Given the description of an element on the screen output the (x, y) to click on. 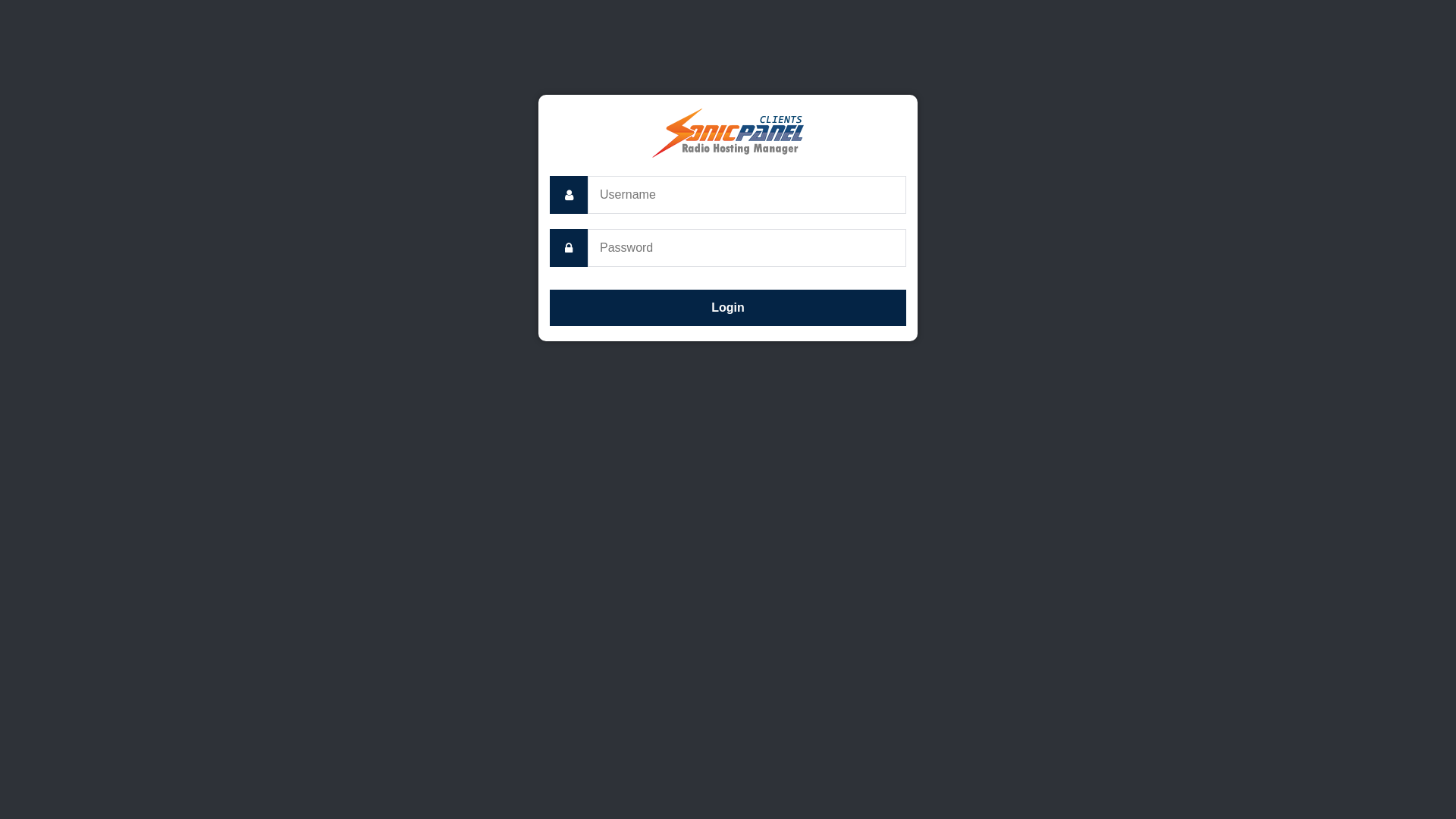
Login Element type: text (727, 307)
